Given the description of an element on the screen output the (x, y) to click on. 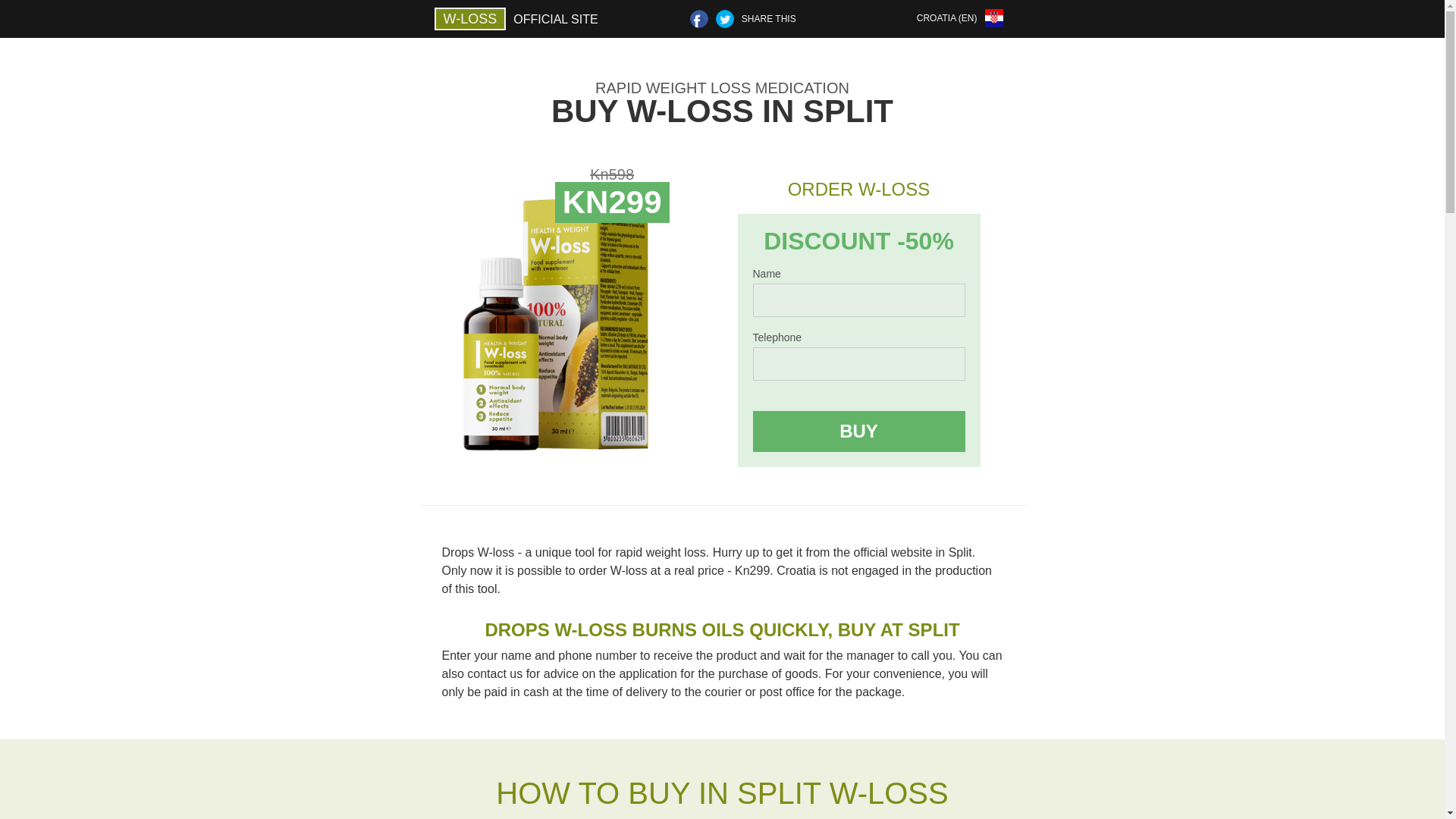
Twitter (724, 18)
BUY (857, 431)
W-LOSS OFFICIAL SITE (519, 18)
Facebook (698, 18)
